Given the description of an element on the screen output the (x, y) to click on. 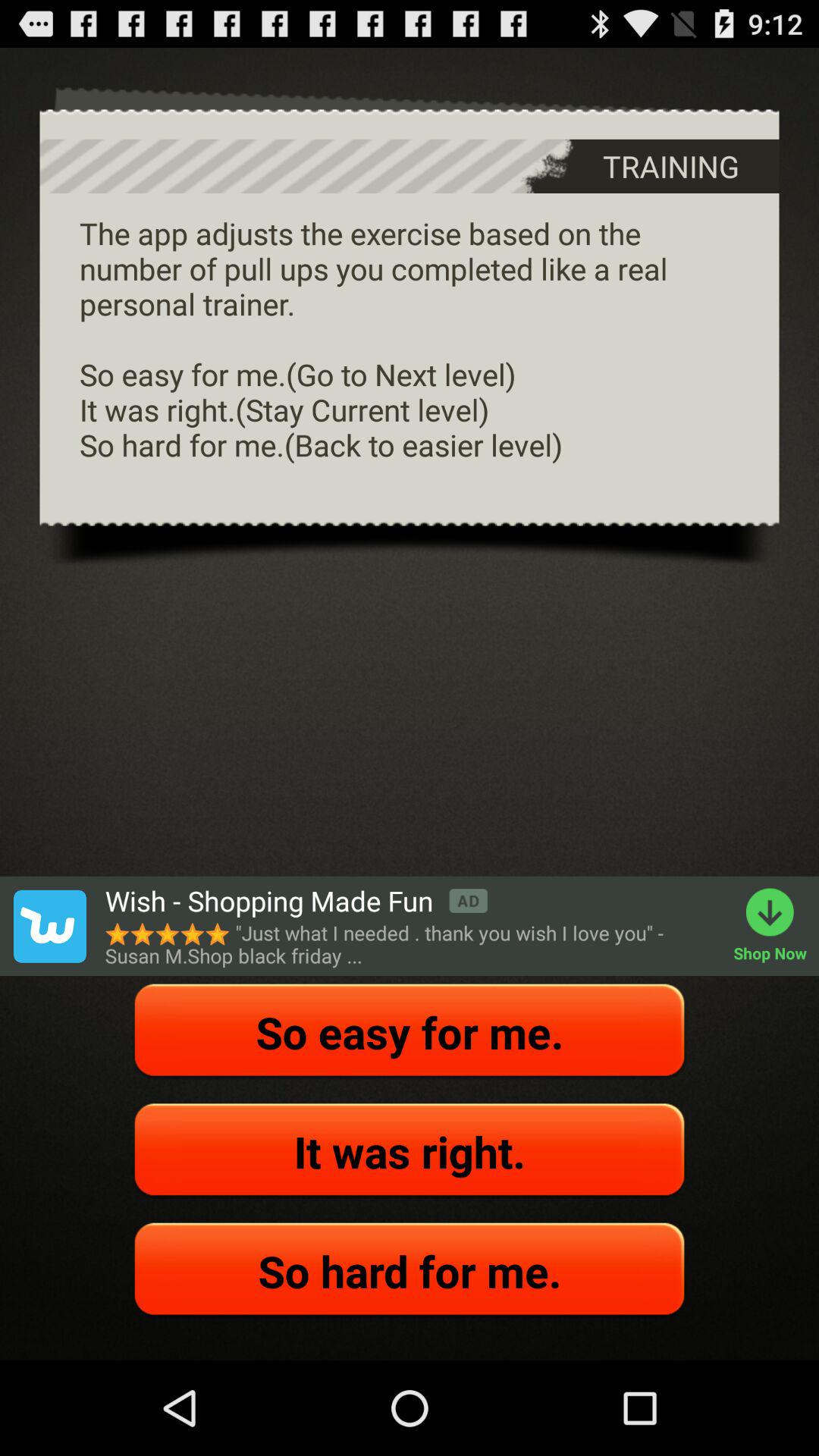
launch icon next to the wish shopping made app (49, 925)
